Given the description of an element on the screen output the (x, y) to click on. 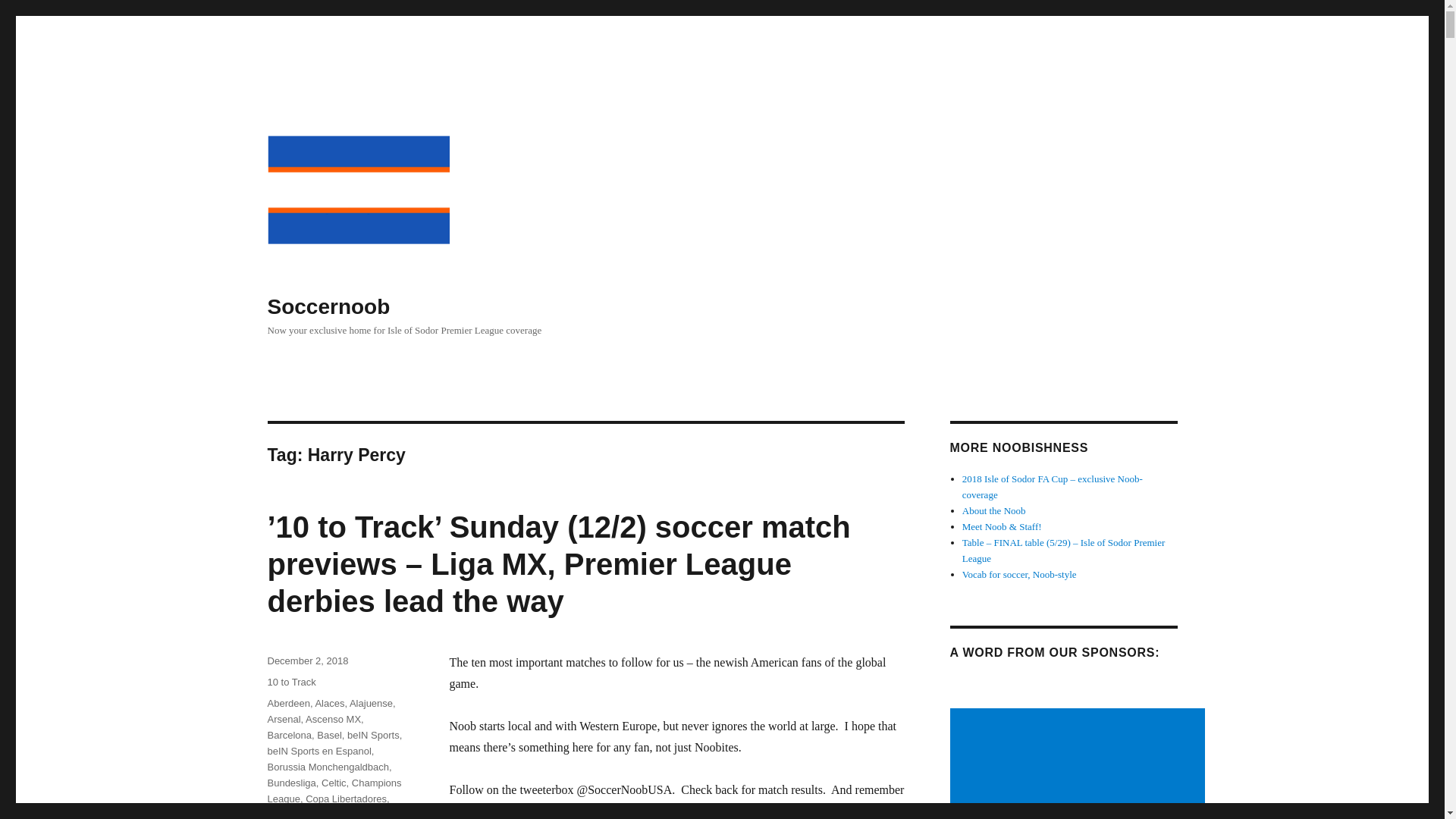
Arsenal (282, 718)
Barcelona (288, 735)
Champions League (333, 790)
Cruz Azul (325, 814)
Ascenso MX (333, 718)
beIN Sports (372, 735)
beIN Sports en Espanol (318, 750)
Costa Rican Primera (312, 814)
Bundesliga (290, 782)
Borussia Monchengaldbach (327, 767)
